Given the description of an element on the screen output the (x, y) to click on. 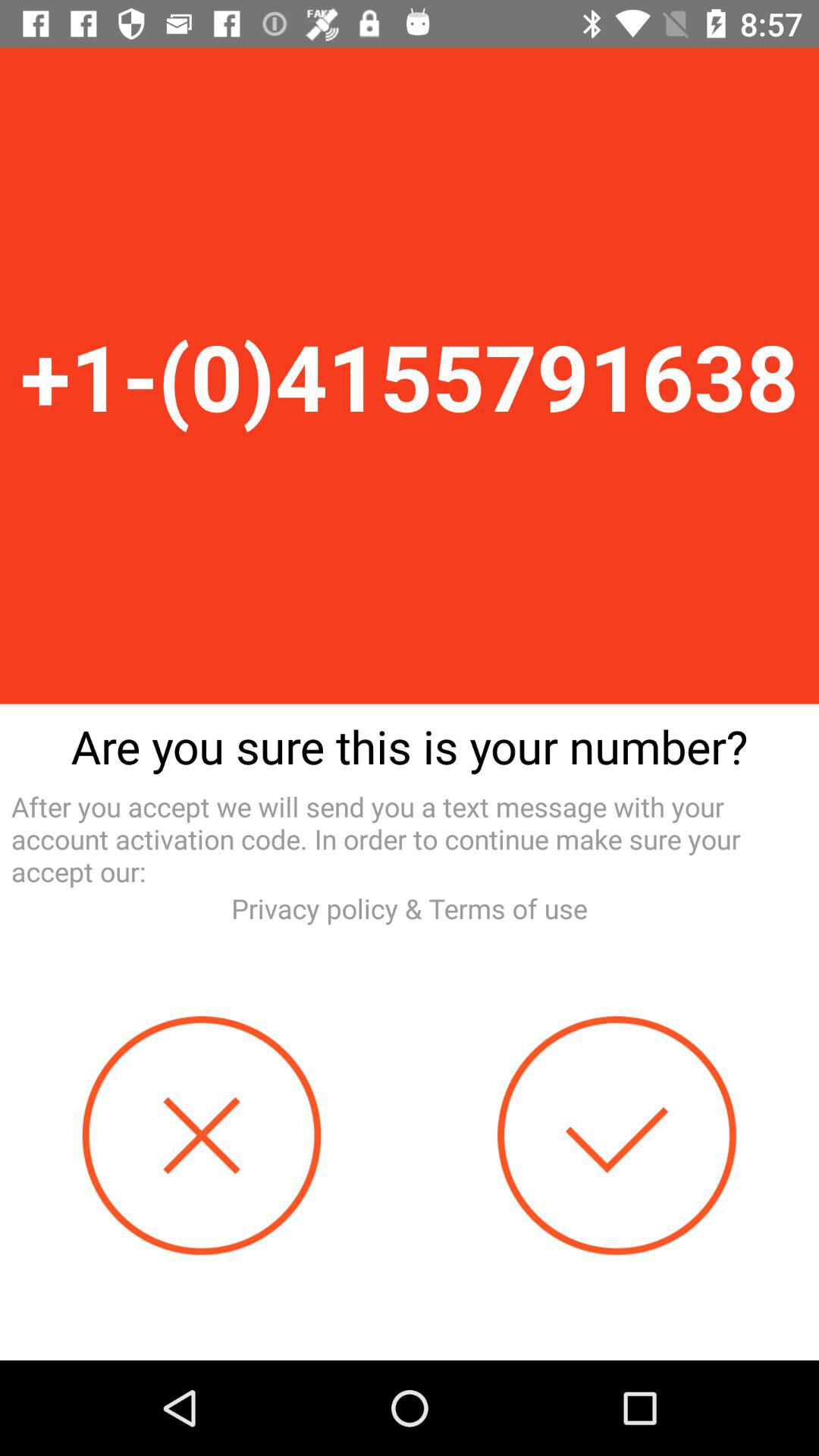
decline the correct number typed (201, 1135)
